Given the description of an element on the screen output the (x, y) to click on. 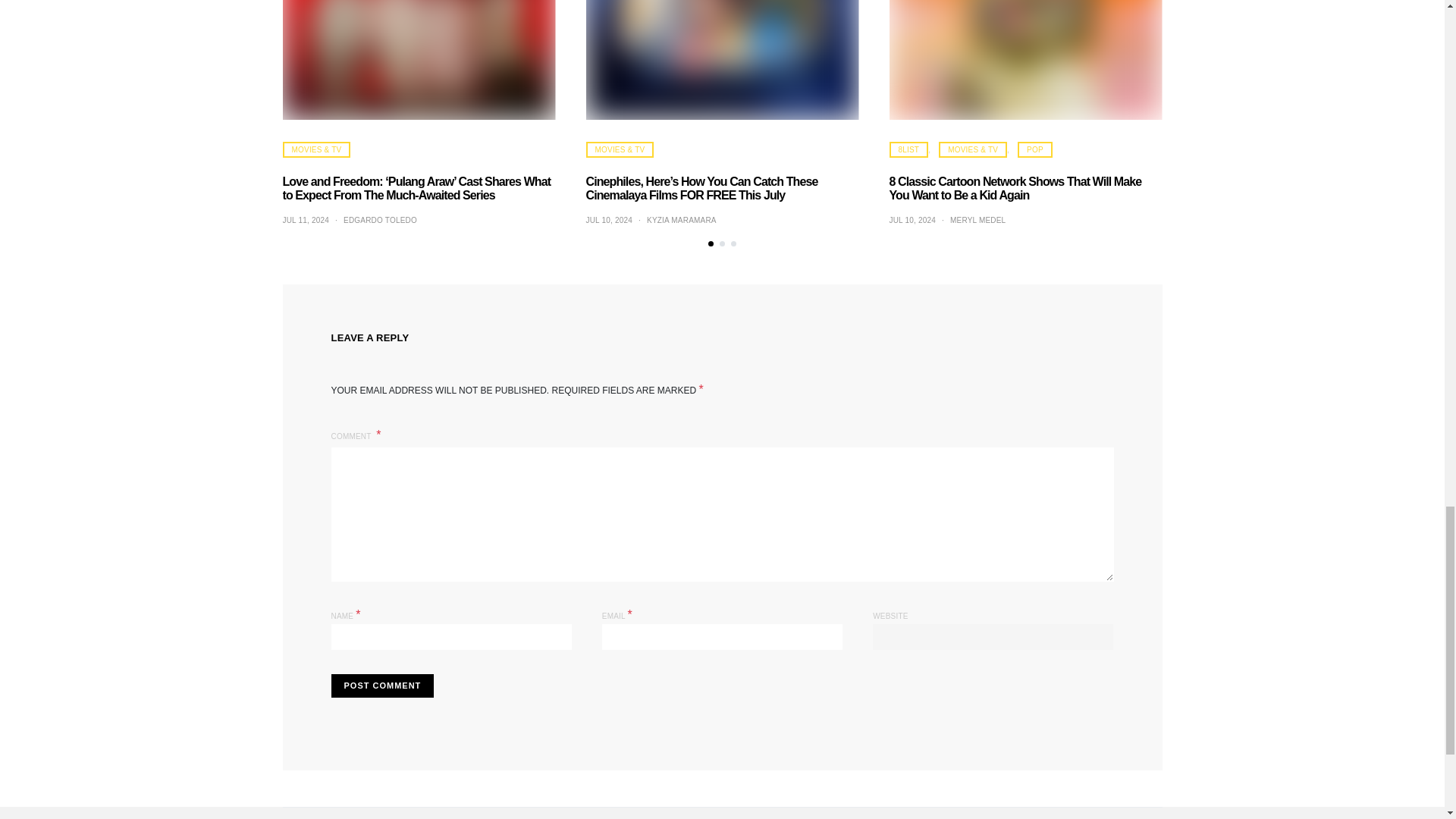
Post Comment (381, 685)
View all posts by Meryl Medel (978, 220)
View all posts by Edgardo Toledo (379, 220)
View all posts by Kyzia Maramara (681, 220)
